Given the description of an element on the screen output the (x, y) to click on. 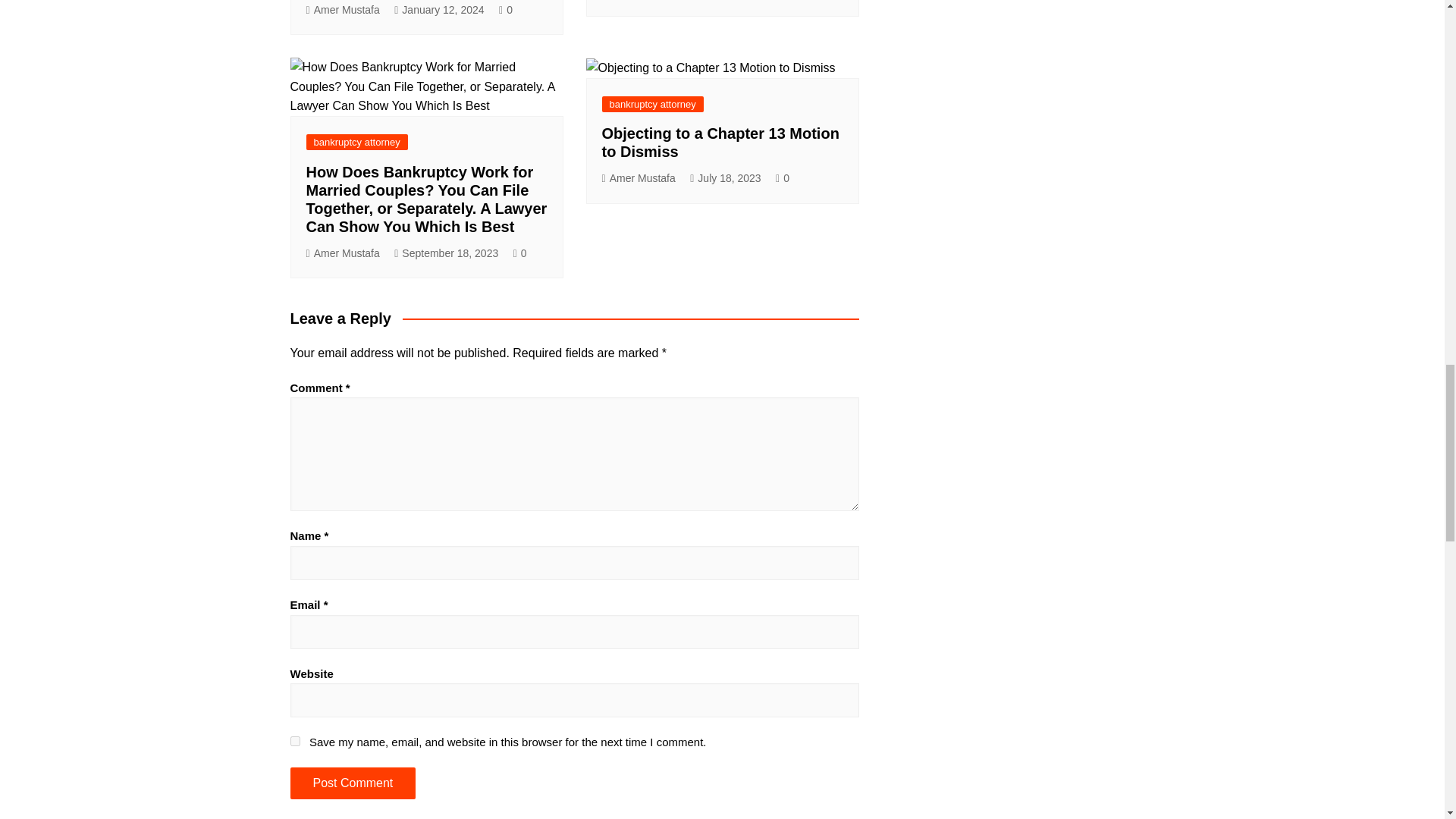
yes (294, 741)
Post Comment (351, 783)
Amer Mustafa (342, 9)
